Given the description of an element on the screen output the (x, y) to click on. 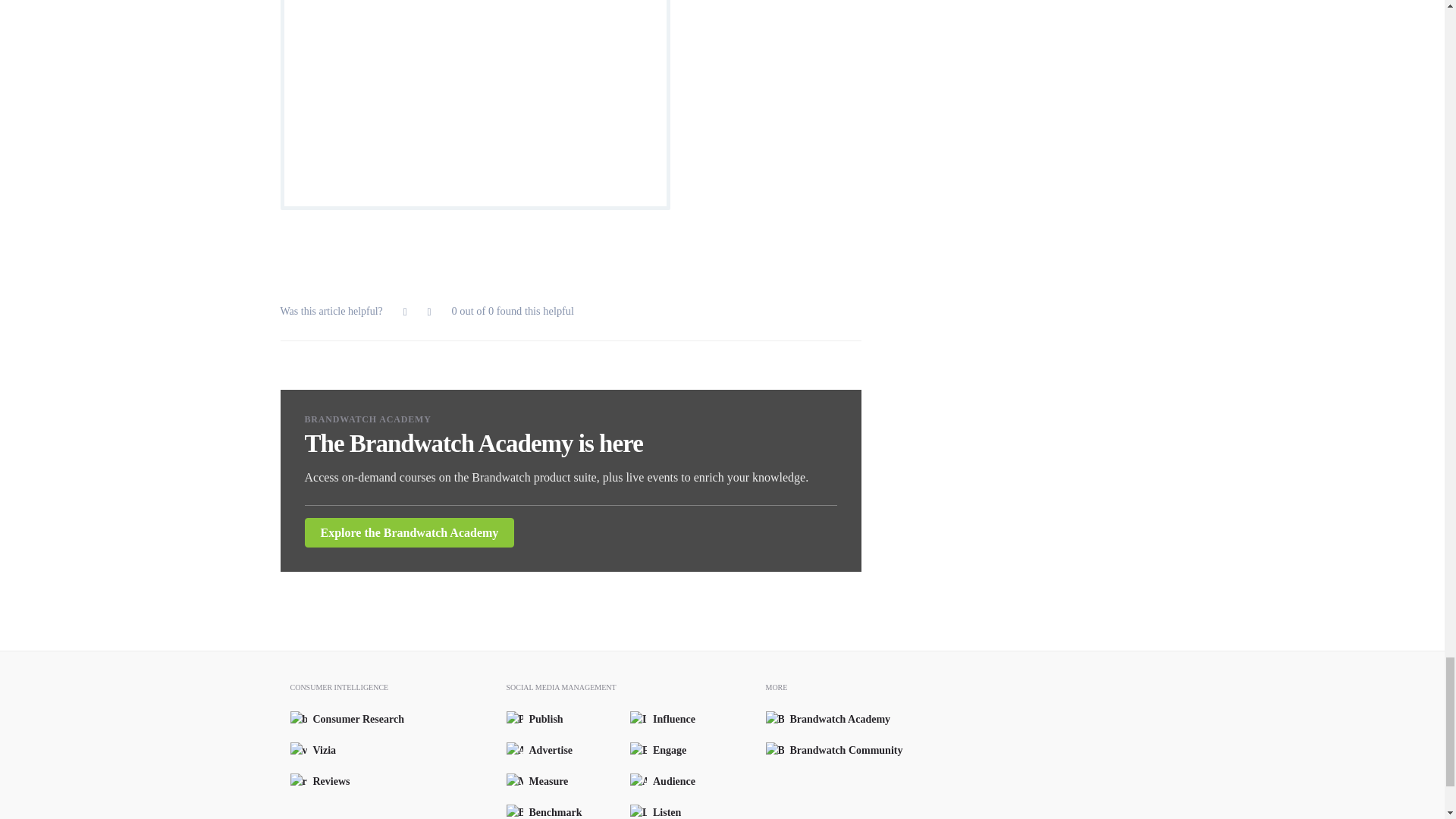
Advertise (568, 750)
Benchmark (568, 811)
Explore the Brandwatch Academy (409, 532)
Engage (692, 750)
Consumer Research (343, 719)
Brandwatch Community (830, 750)
Influence (692, 719)
Vizia (343, 750)
Audience (692, 781)
Publish (568, 719)
Listen (692, 811)
Brandwatch Academy (830, 719)
No (429, 312)
Reviews (343, 781)
Yes (404, 312)
